Given the description of an element on the screen output the (x, y) to click on. 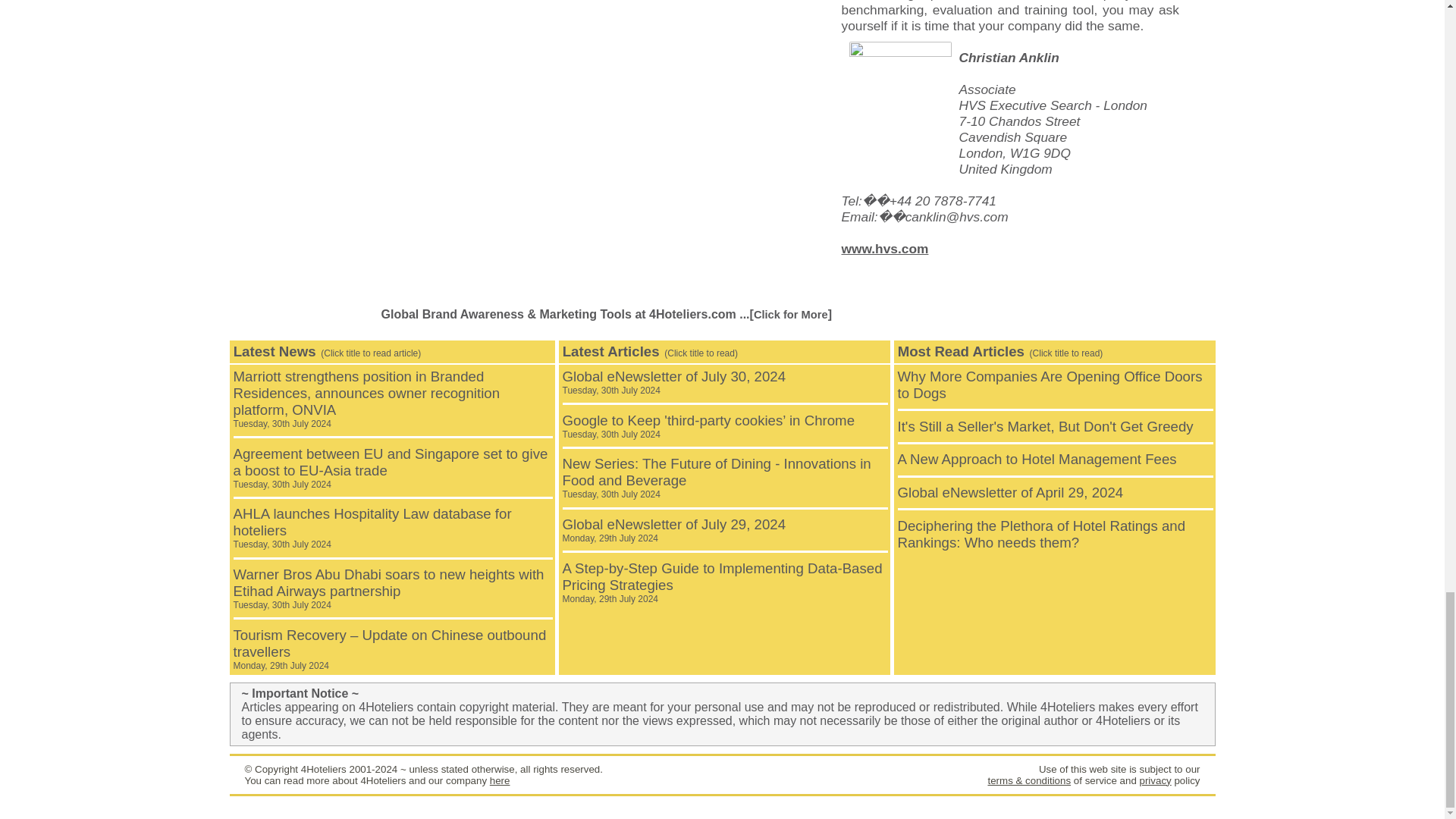
It's Still a Seller's Market, But Don't Get Greedy (1045, 426)
www.hvs.com (884, 248)
Global eNewsletter of April 29, 2024 (1011, 492)
here (500, 780)
privacy (1154, 780)
A New Approach to Hotel Management Fees (1037, 458)
Click HERE to visit this website in a new window (884, 248)
Why More Companies Are Opening Office Doors to Dogs (1050, 384)
